Given the description of an element on the screen output the (x, y) to click on. 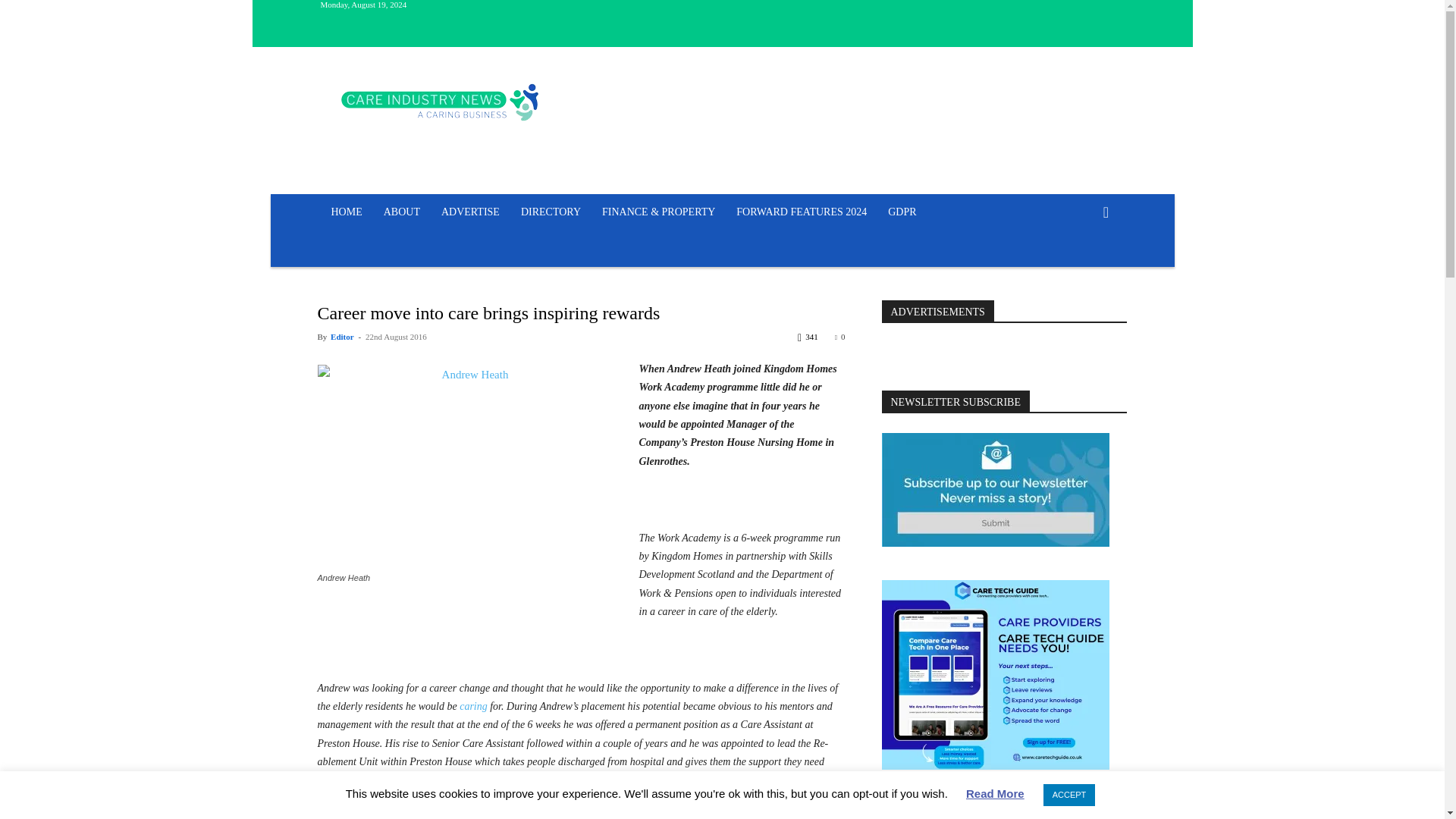
DIRECTORY (551, 212)
ABOUT (401, 212)
FORWARD FEATURES 2024 (801, 212)
Editor (341, 336)
0 (839, 336)
HOME (346, 212)
caring (473, 706)
Care Industry News (439, 101)
ADVERTISE (470, 212)
GDPR (901, 212)
